Given the description of an element on the screen output the (x, y) to click on. 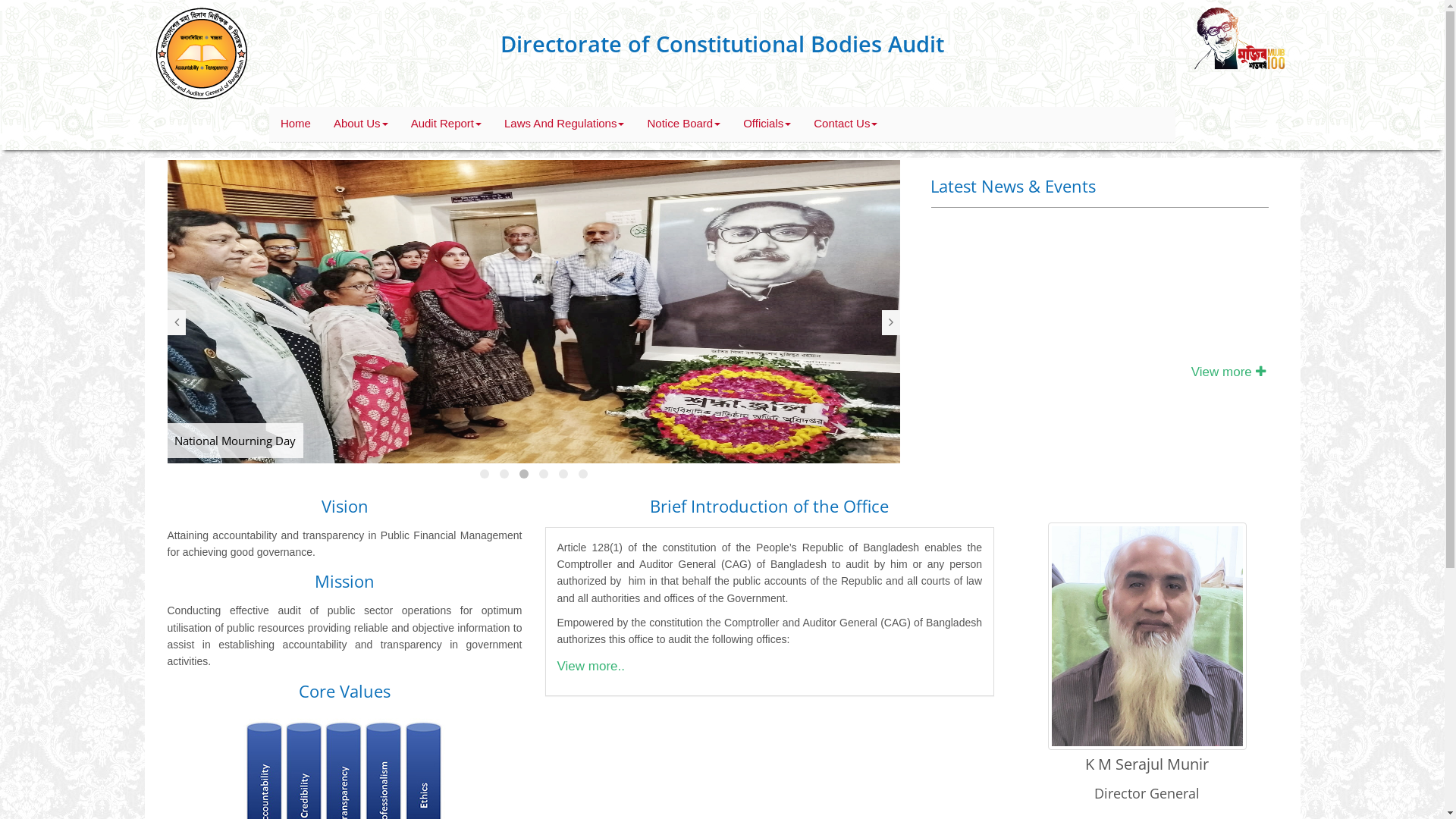
About Us Element type: text (360, 123)
View more.. Element type: text (590, 665)
View more Element type: text (1228, 371)
Contact Us Element type: text (845, 123)
Laws And Regulations Element type: text (563, 123)
Officials Element type: text (766, 123)
Notice Board Element type: text (683, 123)
Home Element type: text (295, 123)
Director General Joined Element type: text (1000, 224)
Audit Report Element type: text (445, 123)
K M Serajul Munir Element type: text (1146, 702)
